Given the description of an element on the screen output the (x, y) to click on. 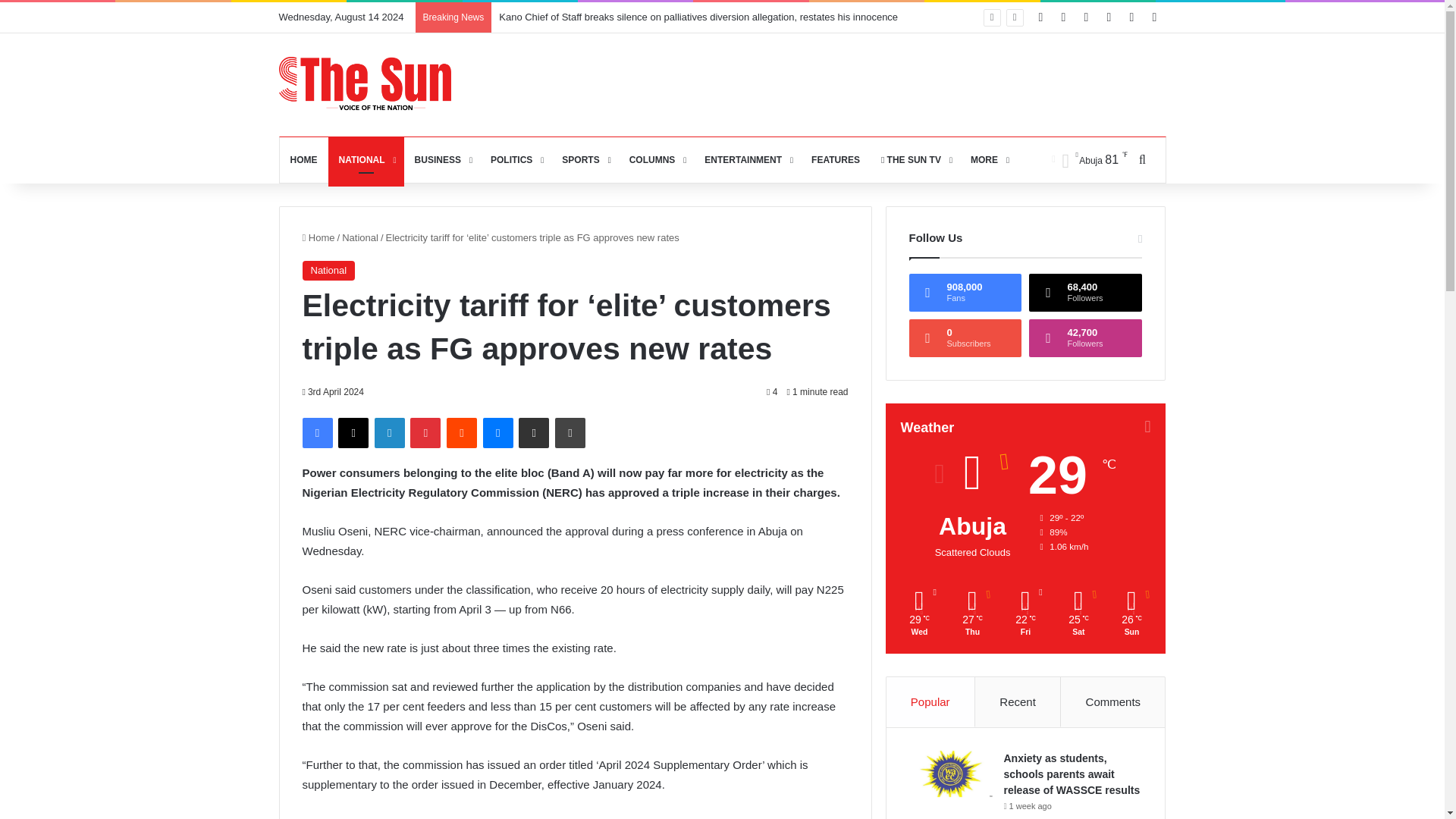
X (352, 432)
COLUMNS (656, 159)
Share via Email (533, 432)
Pinterest (425, 432)
Messenger (498, 432)
THE SUN TV (914, 159)
Reddit (461, 432)
MORE (987, 159)
Advertisement (890, 82)
HOME (303, 159)
